Given the description of an element on the screen output the (x, y) to click on. 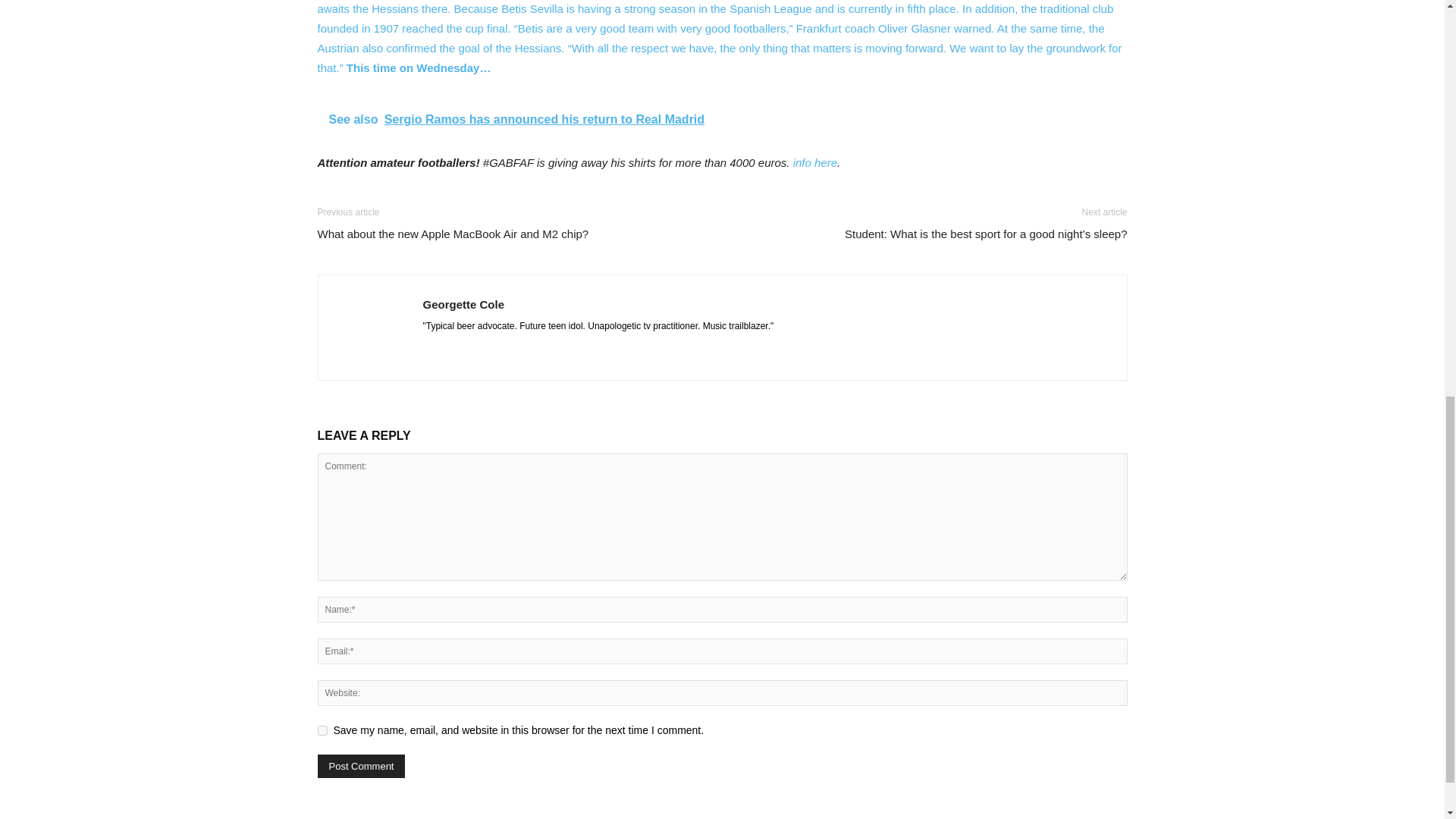
info here (815, 162)
Post Comment (360, 766)
Post Comment (360, 766)
What about the new Apple MacBook Air and M2 chip? (452, 233)
yes (321, 730)
Georgette Cole (464, 304)
